Given the description of an element on the screen output the (x, y) to click on. 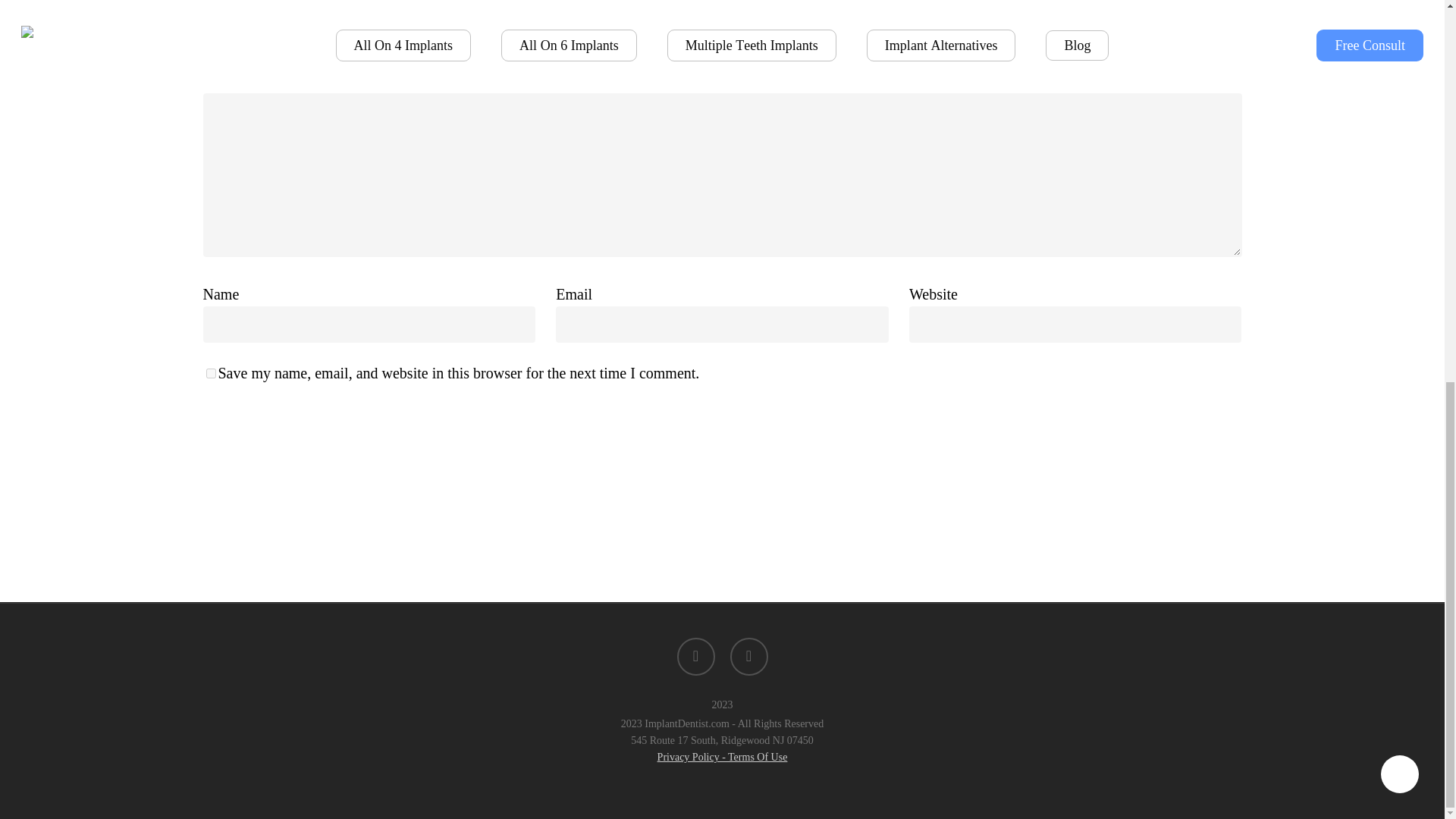
Submit Comment (274, 446)
email (748, 656)
phone (695, 656)
Submit Comment (274, 446)
yes (210, 373)
Privacy Policy - Terms Of Use (722, 756)
